Given the description of an element on the screen output the (x, y) to click on. 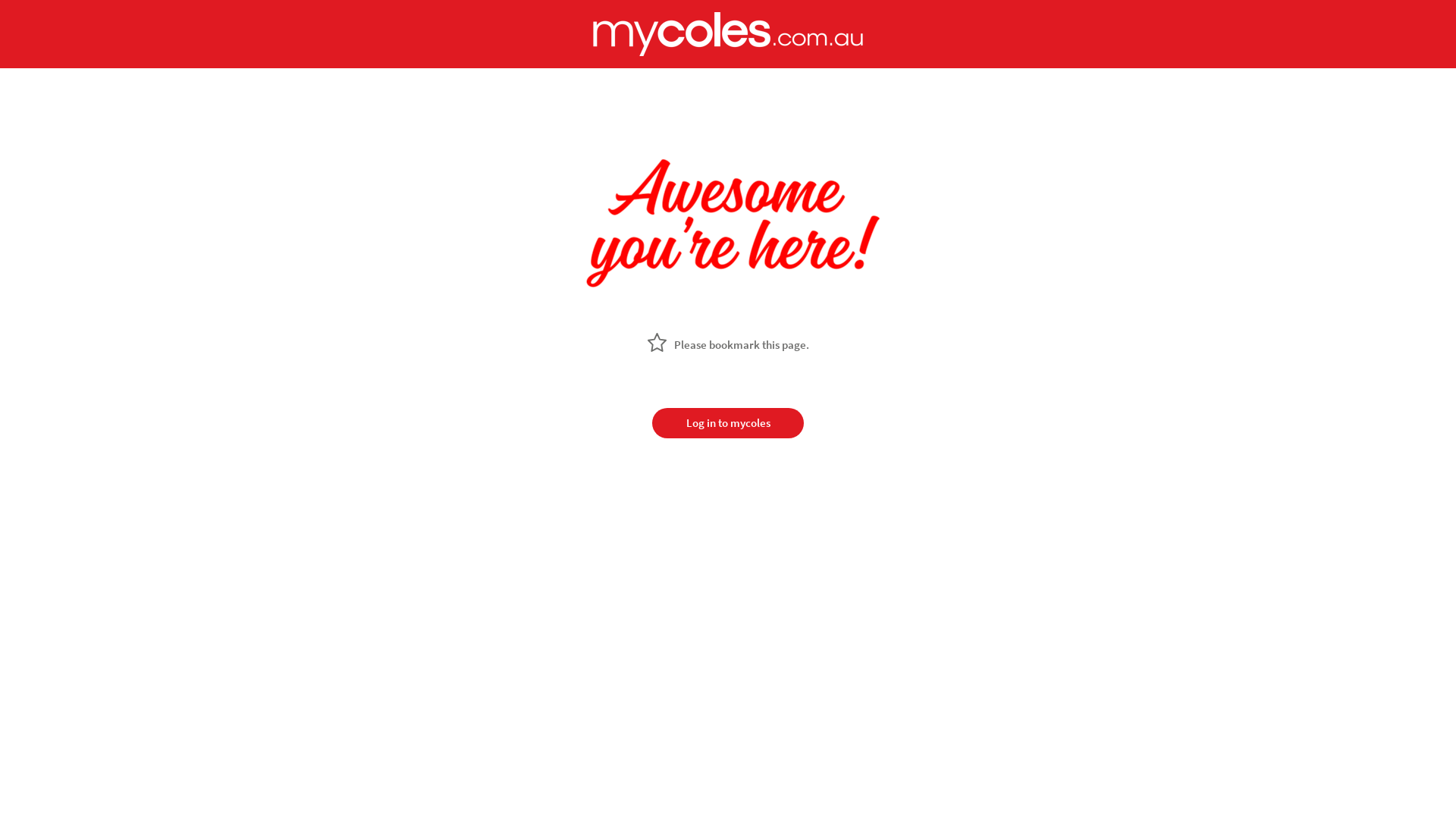
Log in to mycoles Element type: text (727, 422)
